Given the description of an element on the screen output the (x, y) to click on. 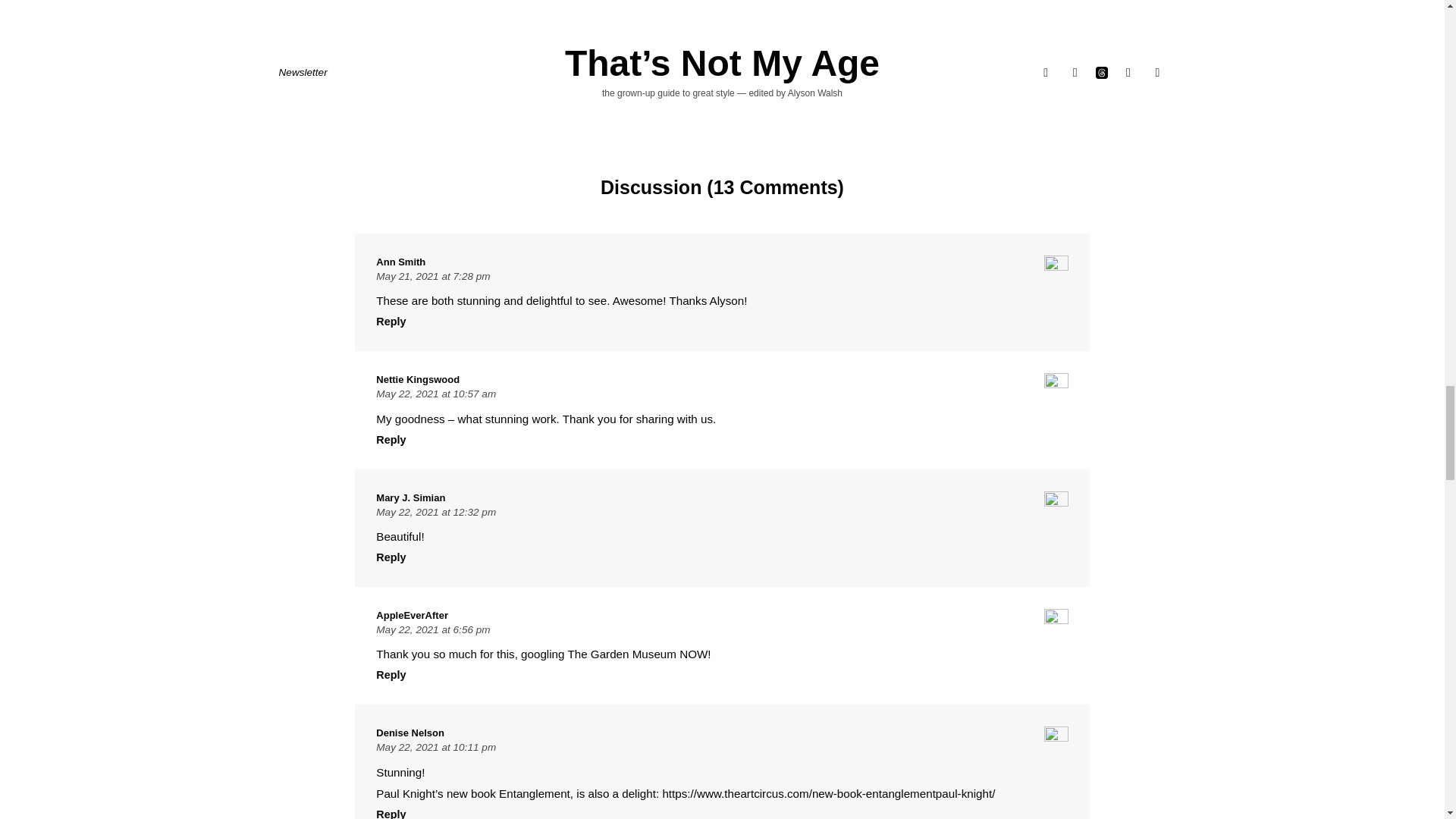
Click to share on Pinterest (715, 96)
Click to share on Facebook (684, 96)
Click to share on Twitter (745, 96)
